Given the description of an element on the screen output the (x, y) to click on. 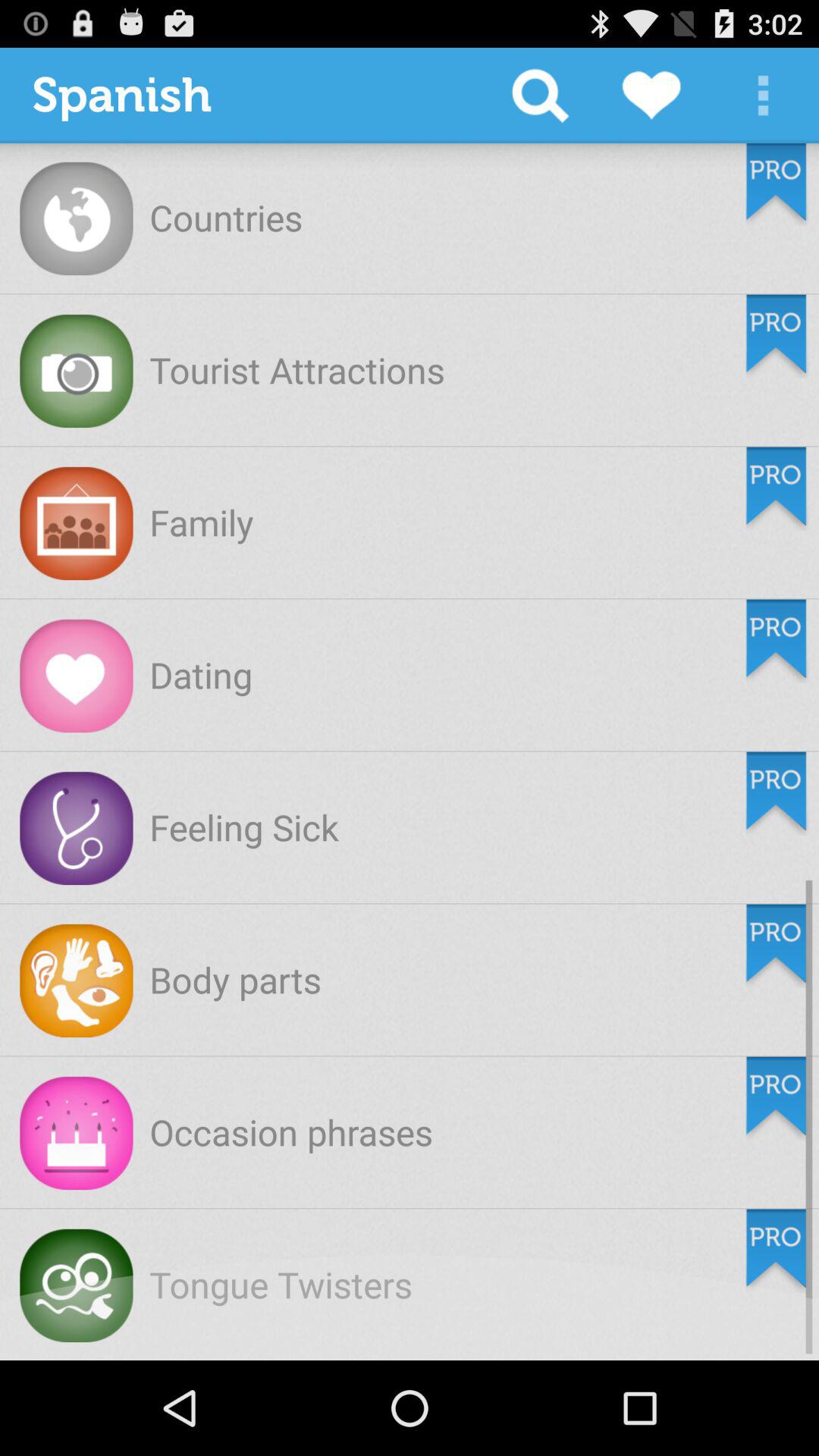
select the dating item (200, 674)
